Given the description of an element on the screen output the (x, y) to click on. 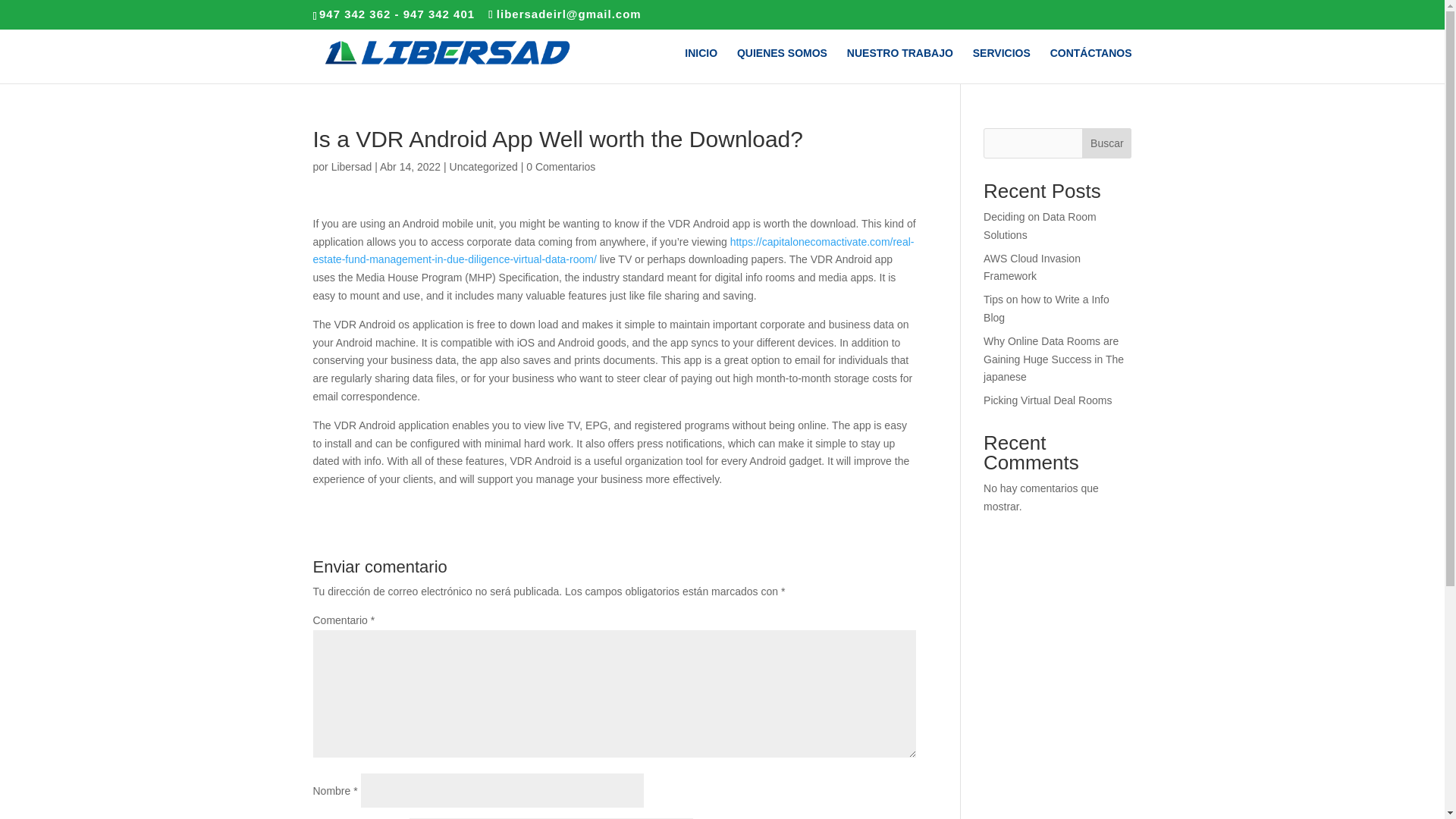
Buscar (1106, 142)
SERVICIOS (1001, 65)
QUIENES SOMOS (781, 65)
Mensajes de Libersad (351, 166)
AWS Cloud Invasion Framework (1032, 267)
Uncategorized (483, 166)
Deciding on Data Room Solutions (1040, 225)
Picking Virtual Deal Rooms (1048, 399)
NUESTRO TRABAJO (900, 65)
INICIO (700, 65)
Tips on how to Write a Info Blog (1046, 308)
Libersad (351, 166)
0 Comentarios (560, 166)
